Given the description of an element on the screen output the (x, y) to click on. 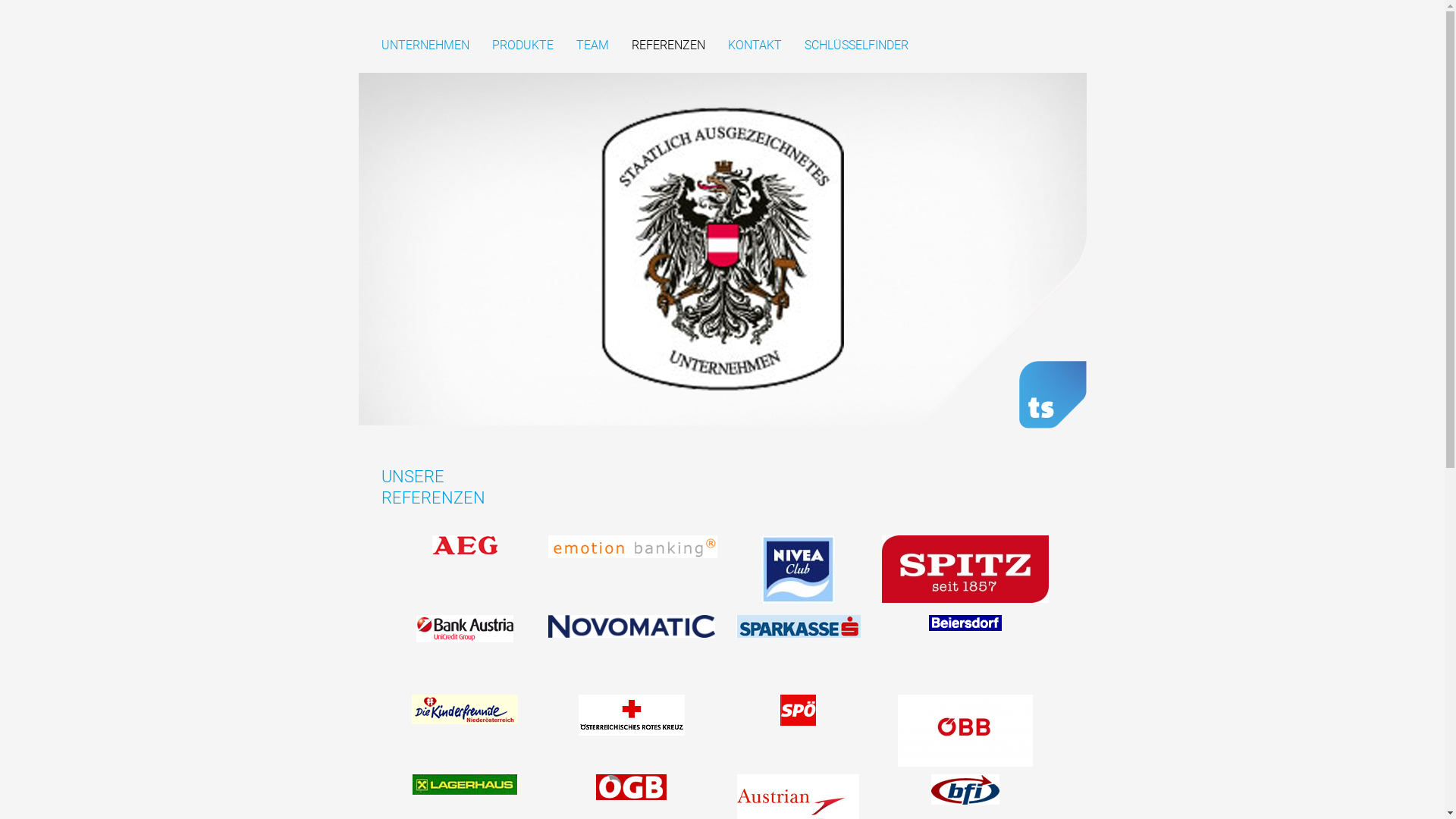
referenz Element type: hover (964, 791)
referenz Element type: hover (463, 546)
referenz Element type: hover (630, 548)
Direkt zum Inhalt Element type: text (34, 37)
KONTAKT Element type: text (754, 44)
TEAM Element type: text (592, 44)
referenz Element type: hover (463, 786)
referenz Element type: hover (463, 711)
referenz Element type: hover (797, 628)
referenz Element type: hover (964, 570)
PRODUKTE Element type: text (521, 44)
referenz Element type: hover (630, 788)
referenz Element type: hover (463, 630)
REFERENZEN Element type: text (667, 44)
referenz Element type: hover (630, 716)
UNTERNEHMEN Element type: text (424, 44)
referenz Element type: hover (797, 571)
referenz Element type: hover (964, 732)
referenz Element type: hover (964, 624)
referenz Element type: hover (797, 711)
referenz Element type: hover (630, 628)
